Given the description of an element on the screen output the (x, y) to click on. 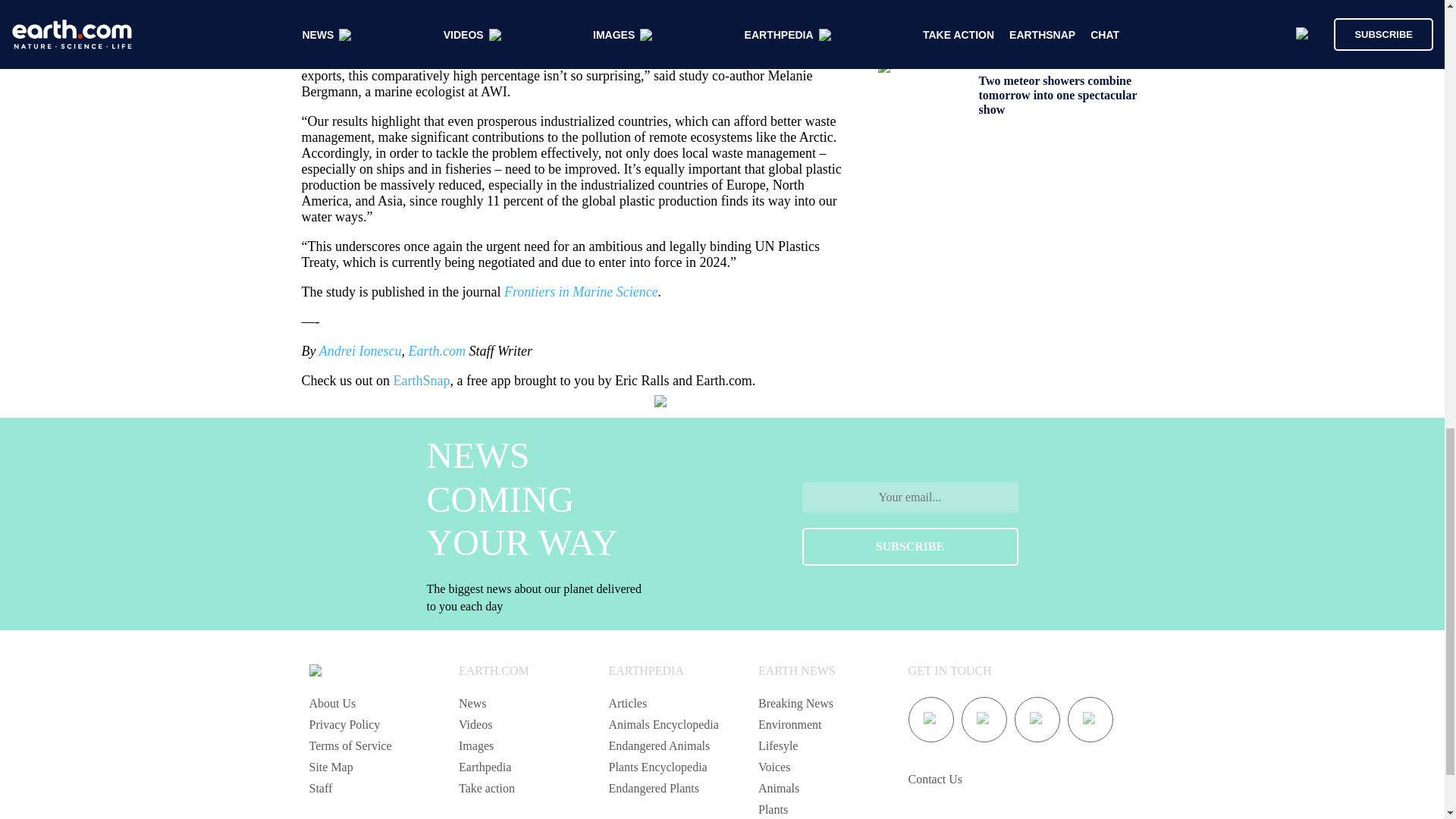
Andrei Ionescu (359, 350)
Drying lake beds are a major source of harmful emissions (1053, 12)
EarthSnap (421, 380)
Frontiers in Marine Science (580, 291)
Earth.com (436, 350)
